Given the description of an element on the screen output the (x, y) to click on. 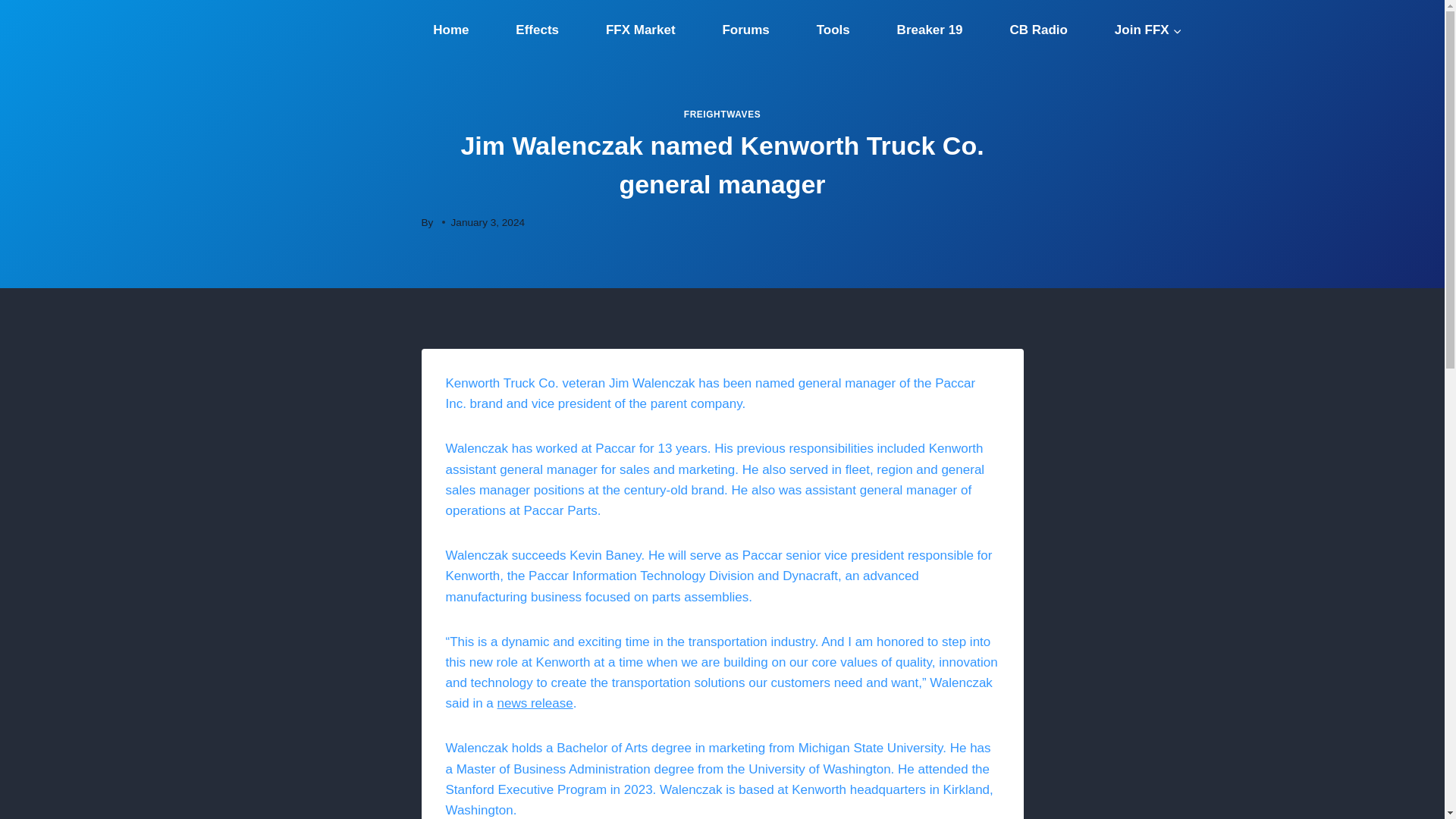
FREIGHTWAVES (722, 113)
Tools (833, 30)
Join FFX (1148, 30)
FFX Market (639, 30)
Forums (745, 30)
news release (535, 703)
Home (451, 30)
CB Radio (1038, 30)
Effects (536, 30)
Breaker 19 (929, 30)
